Given the description of an element on the screen output the (x, y) to click on. 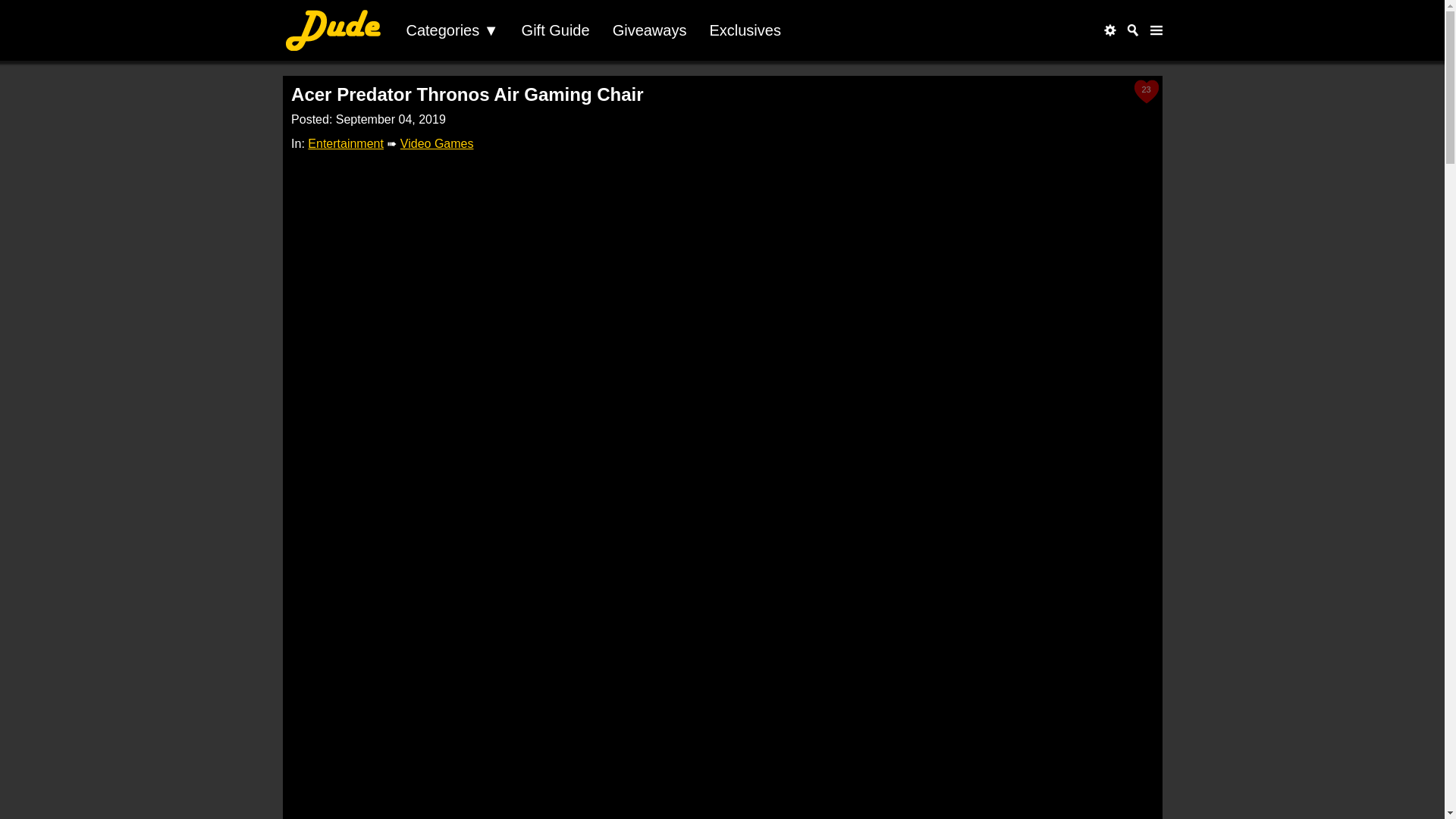
Video Games (437, 143)
Gift Guide (556, 30)
23 (1146, 91)
Giveaways (649, 30)
Entertainment (345, 143)
Exclusives (744, 30)
Advertisement (722, 749)
